Given the description of an element on the screen output the (x, y) to click on. 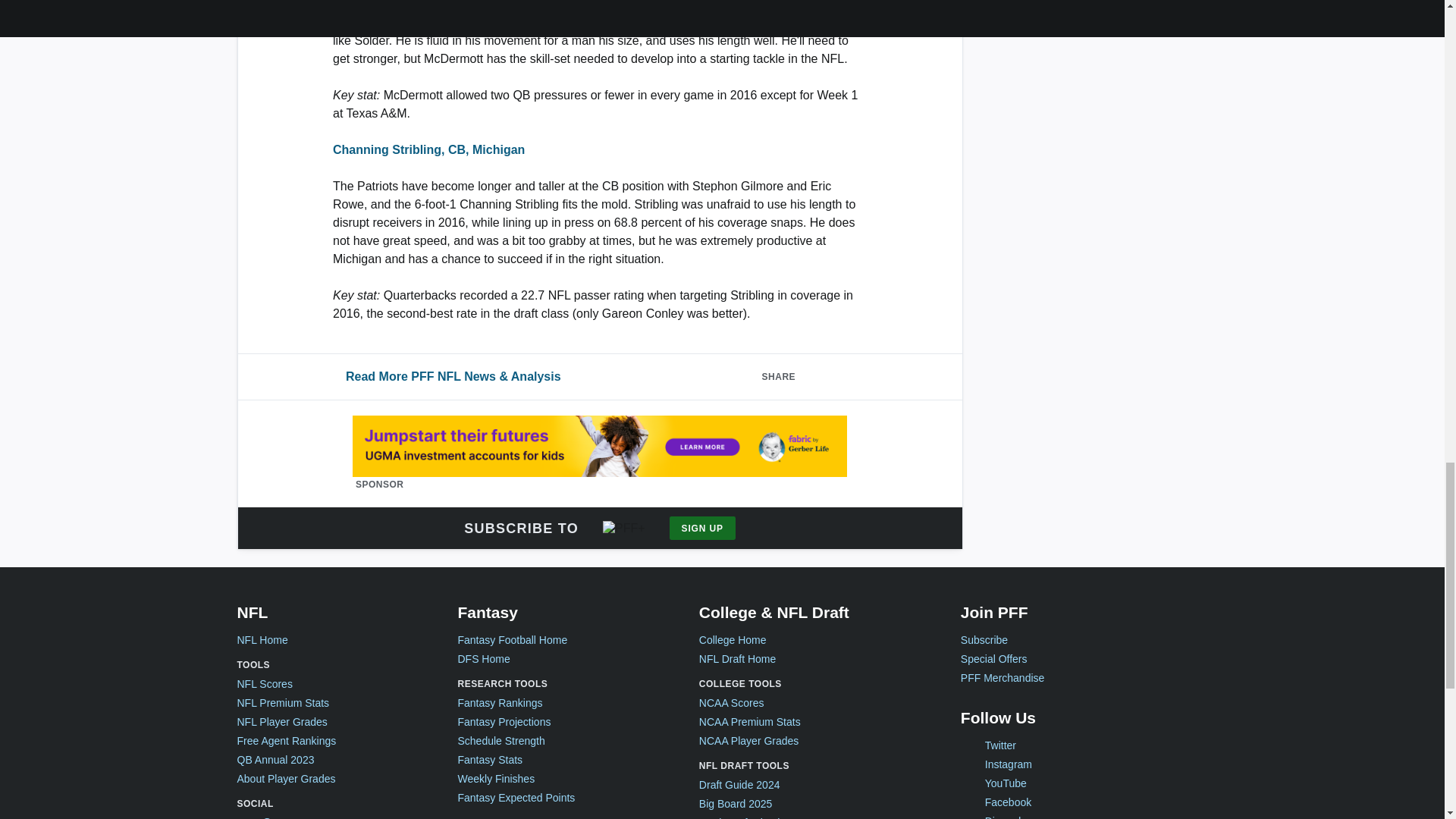
SIGN UP (702, 527)
NFL Premium Stats (282, 703)
NFL Home (260, 640)
NFL Scores (263, 684)
Channing Stribling, CB, Michigan (428, 149)
Free Agent Rankings (285, 740)
About Player Grades (284, 779)
QB Annual 2023 (274, 759)
NFL Player Grades (280, 721)
